Given the description of an element on the screen output the (x, y) to click on. 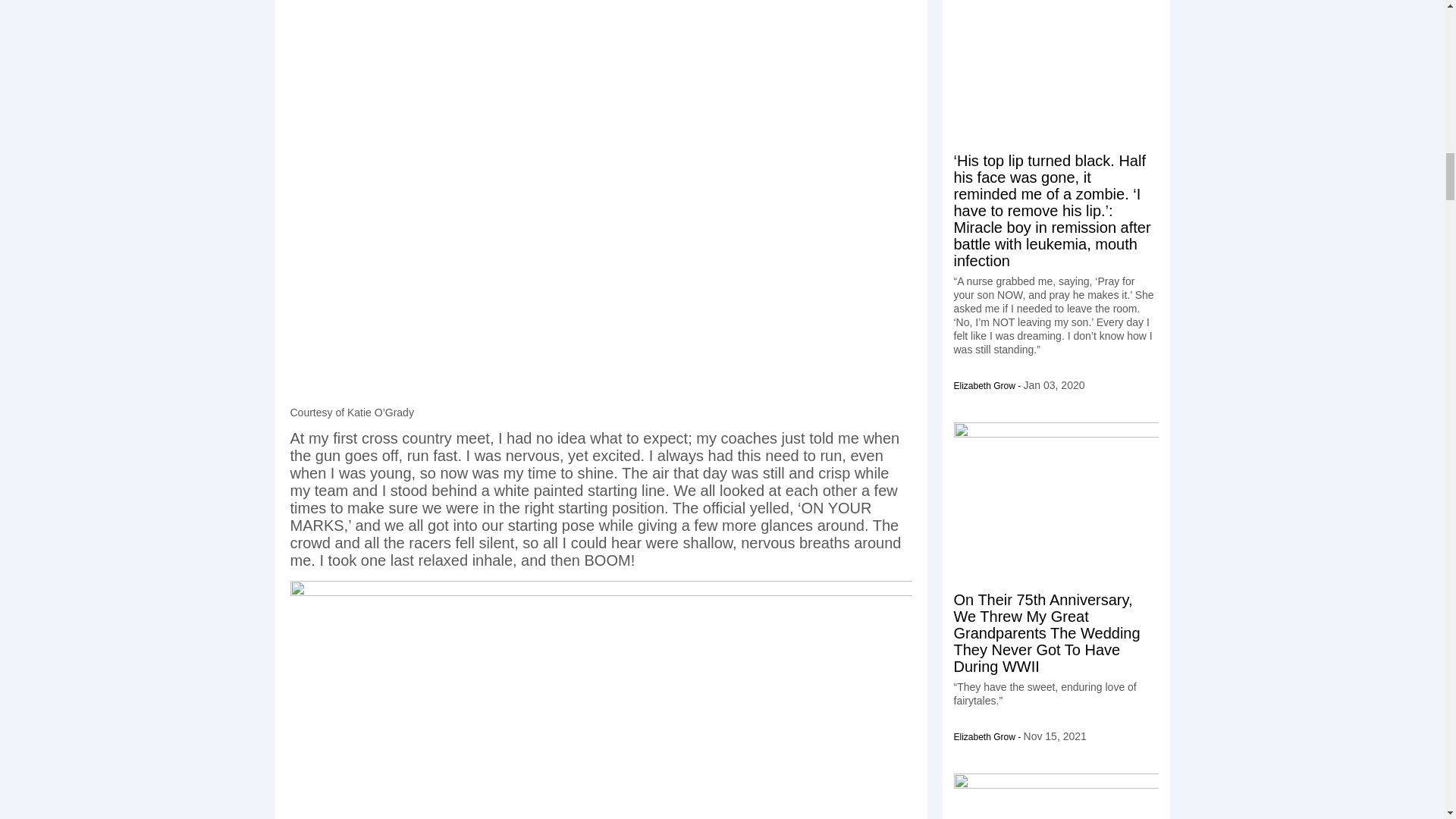
January 3, 2020 (1053, 385)
November 15, 2021 (1054, 735)
